Given the description of an element on the screen output the (x, y) to click on. 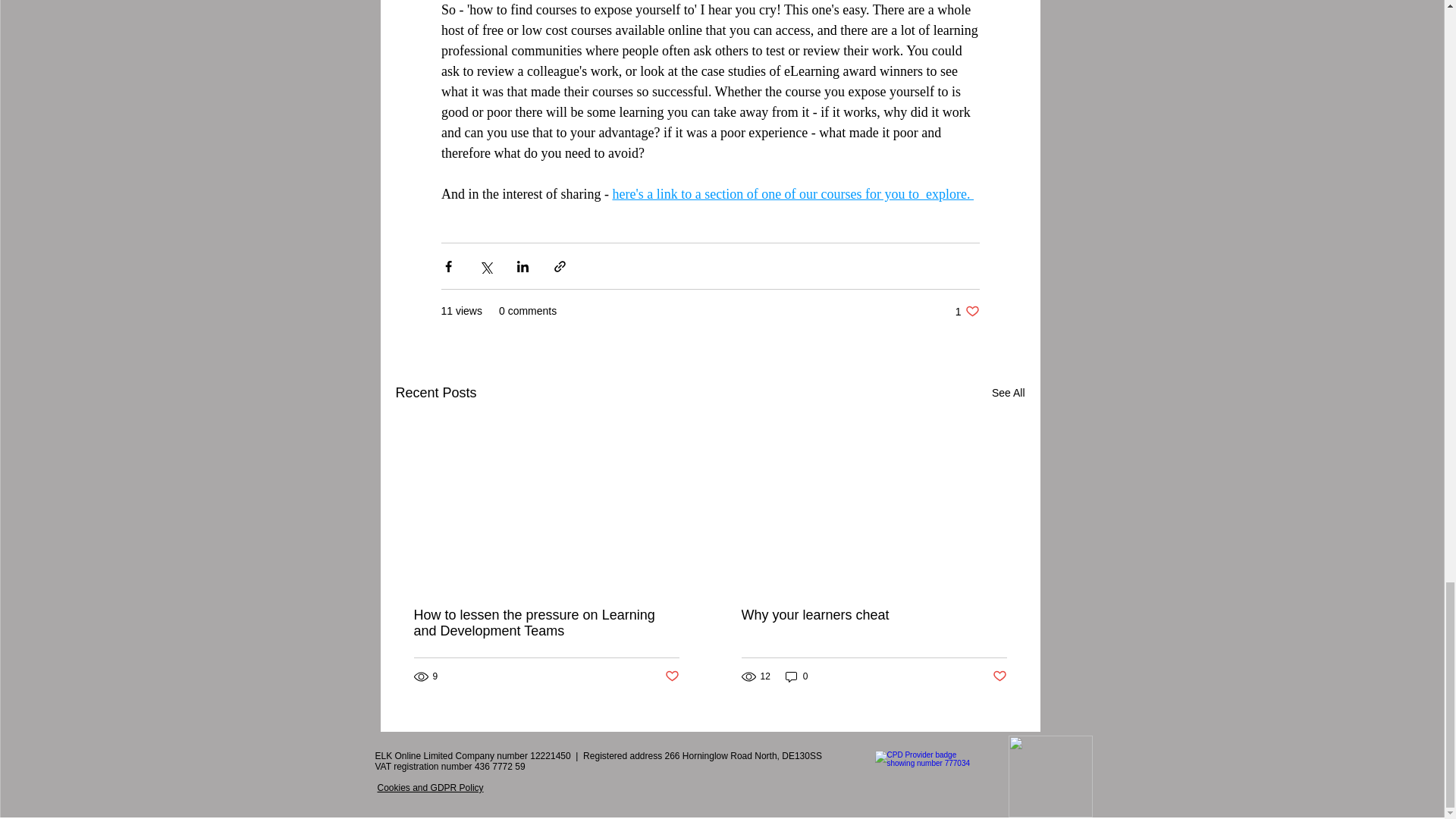
How to lessen the pressure on Learning and Development Teams (546, 623)
0 (796, 676)
See All (1008, 393)
Post not marked as liked (998, 676)
Why your learners cheat (874, 615)
Post not marked as liked (670, 676)
Cookies and GDPR Policy (967, 310)
